Given the description of an element on the screen output the (x, y) to click on. 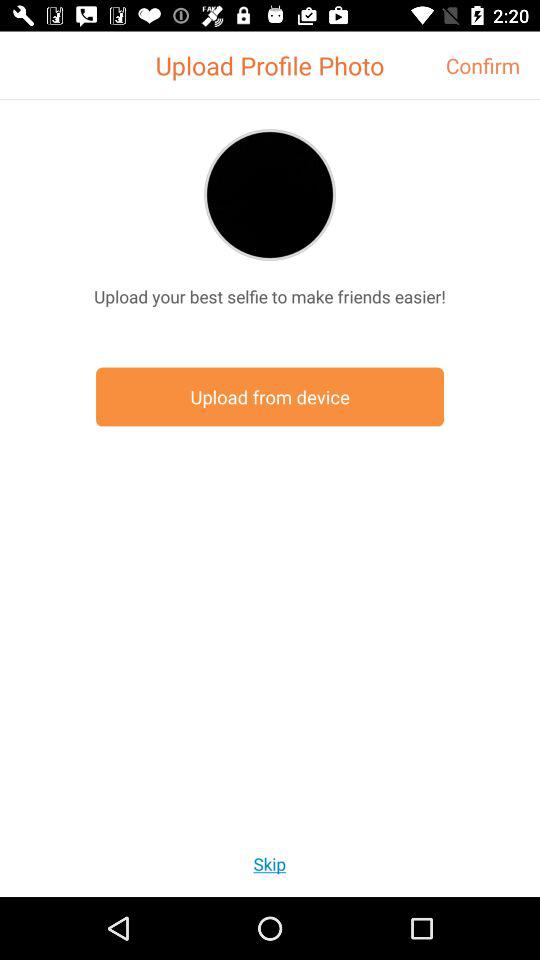
turn off the icon above the upload from device item (269, 296)
